Given the description of an element on the screen output the (x, y) to click on. 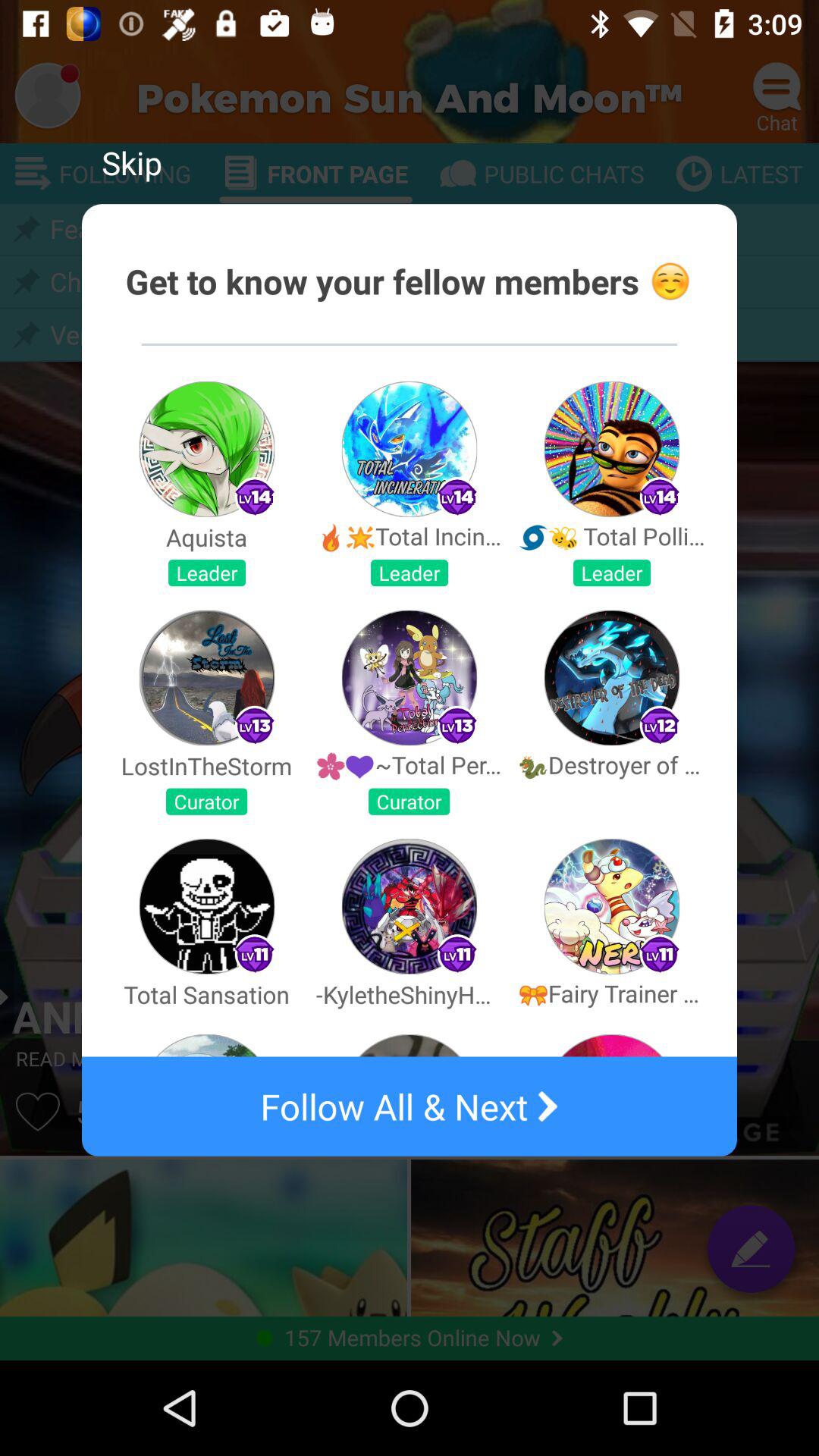
choose skip (131, 162)
